Given the description of an element on the screen output the (x, y) to click on. 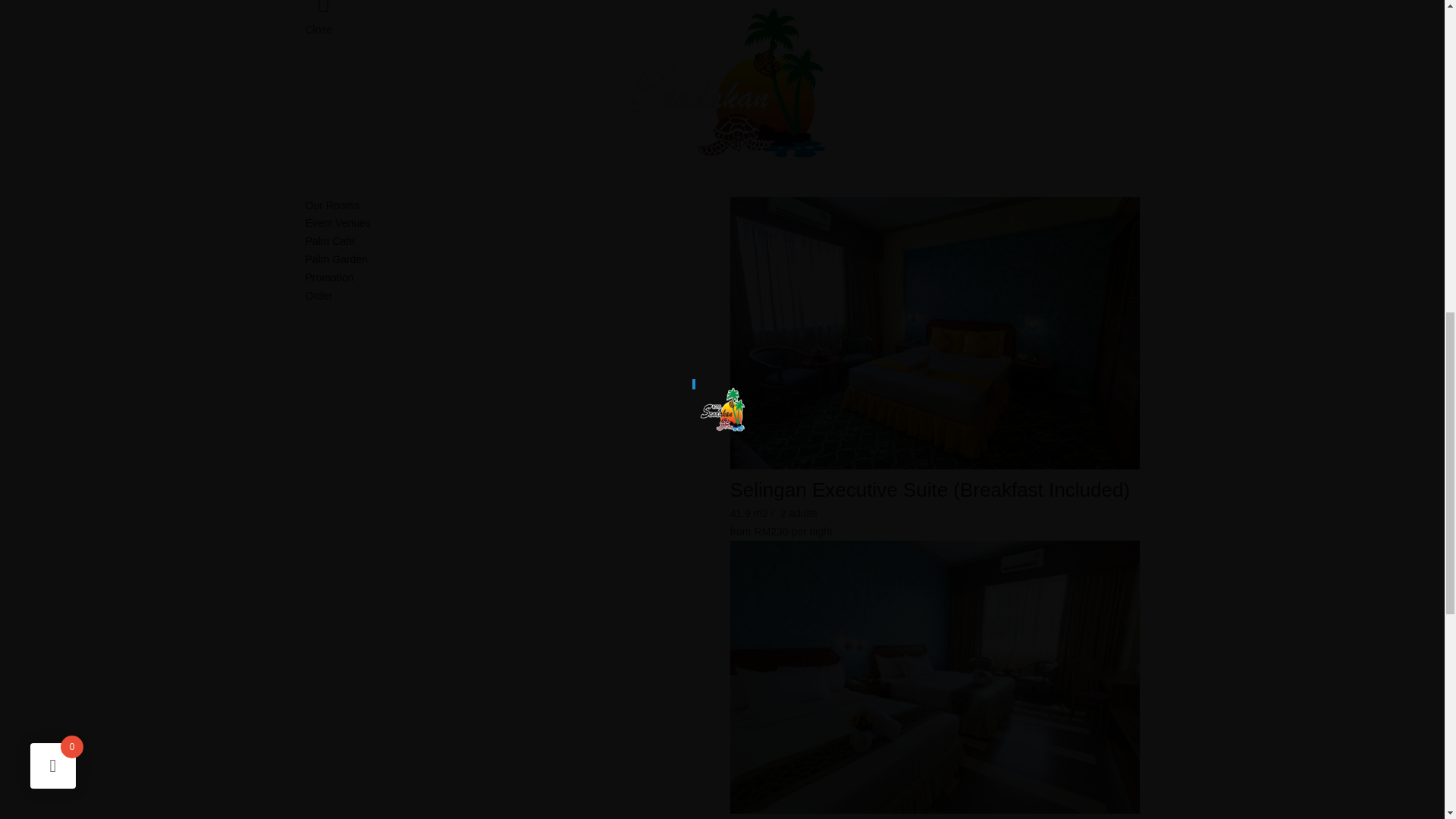
Choose dates to see relevant prices (810, 531)
Palm Cafe (509, 241)
Palm Garden (509, 259)
Our Rooms (509, 206)
Close (317, 29)
Promotion (509, 278)
Order (509, 296)
Event Venues (509, 223)
